Given the description of an element on the screen output the (x, y) to click on. 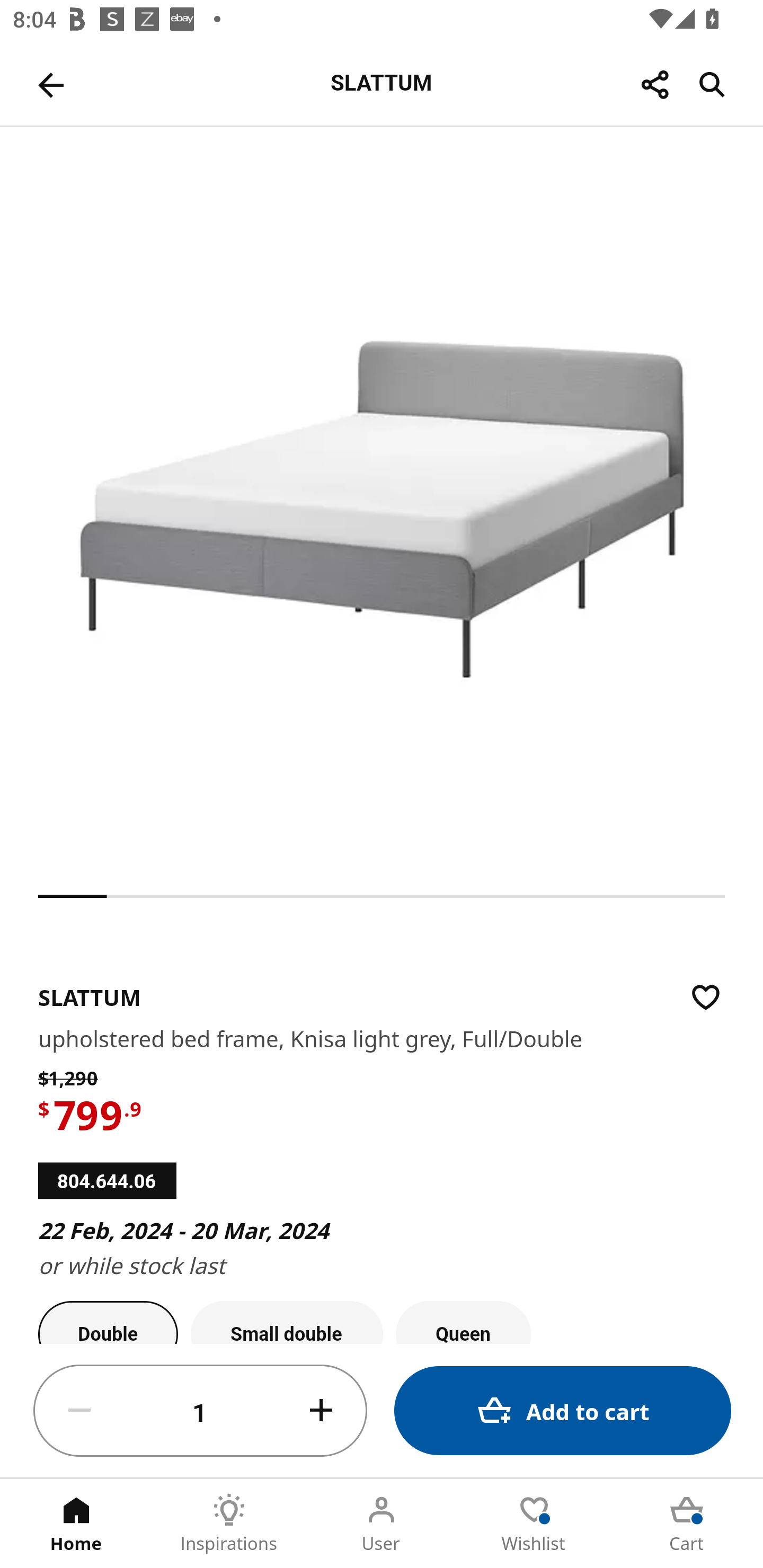
Double (107, 1322)
Small double (286, 1322)
Queen (463, 1322)
Add to cart (562, 1410)
1 (200, 1411)
Home
Tab 1 of 5 (76, 1522)
Inspirations
Tab 2 of 5 (228, 1522)
User
Tab 3 of 5 (381, 1522)
Wishlist
Tab 4 of 5 (533, 1522)
Cart
Tab 5 of 5 (686, 1522)
